Given the description of an element on the screen output the (x, y) to click on. 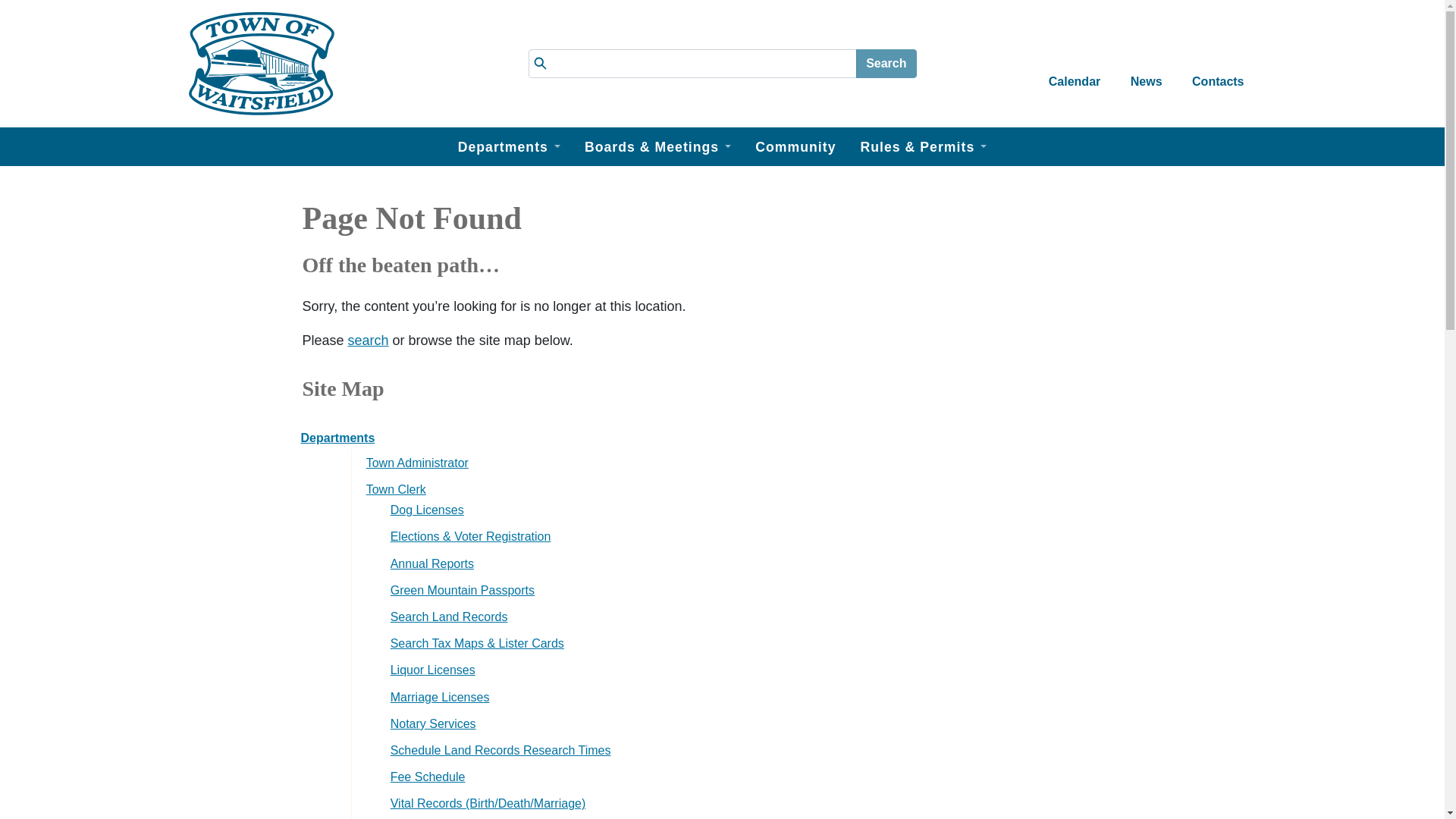
Departments (719, 438)
search (367, 340)
Departments (508, 146)
Town Administrator (753, 462)
Contacts (1217, 63)
Community (794, 146)
Dog Licenses (764, 509)
News (1145, 63)
Calendar (1074, 63)
Town Clerk (753, 488)
